Given the description of an element on the screen output the (x, y) to click on. 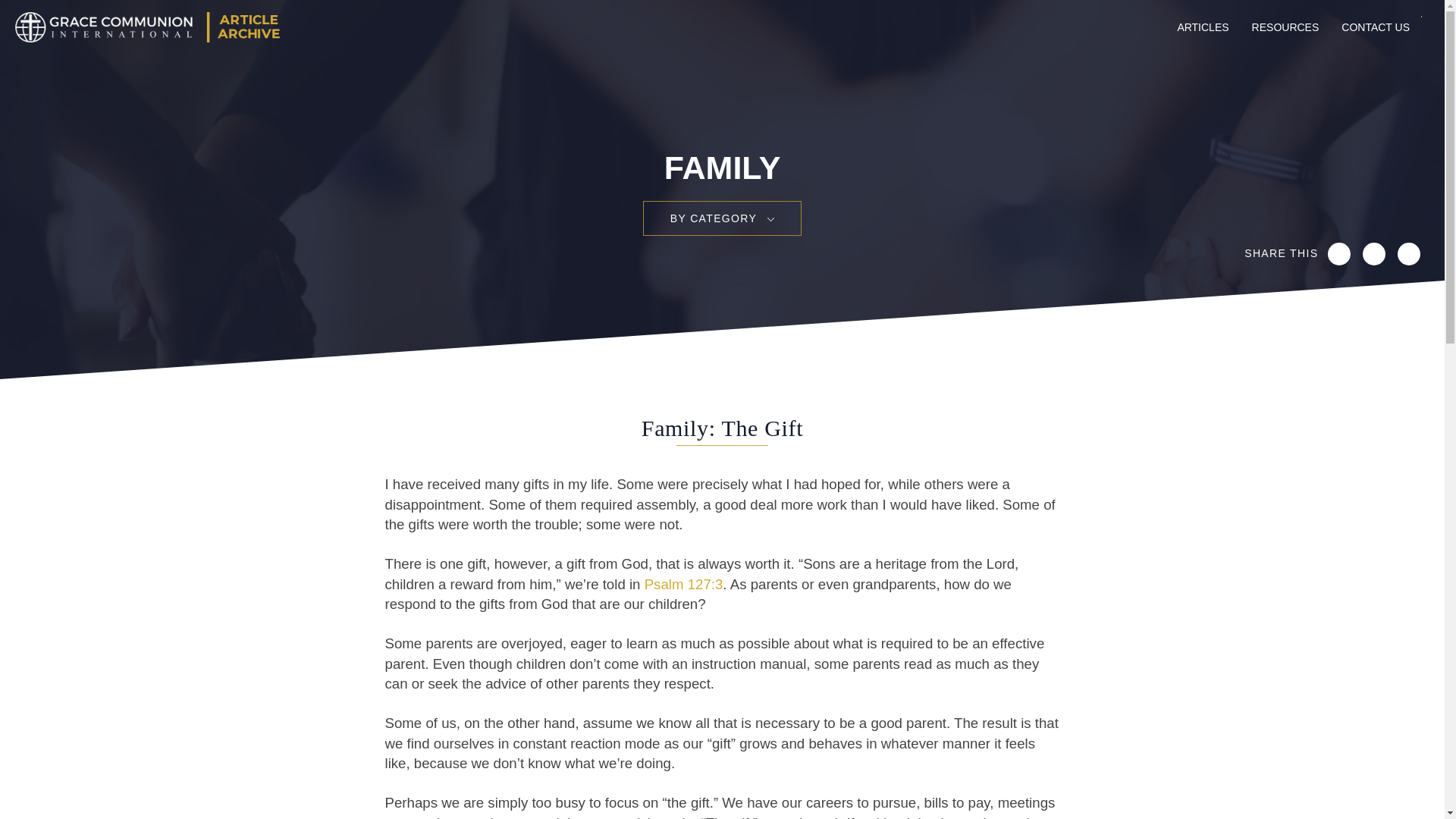
CONTACT US (1375, 26)
ARTICLES (1203, 26)
RESOURCES (1285, 26)
GCI Archive (144, 27)
